Given the description of an element on the screen output the (x, y) to click on. 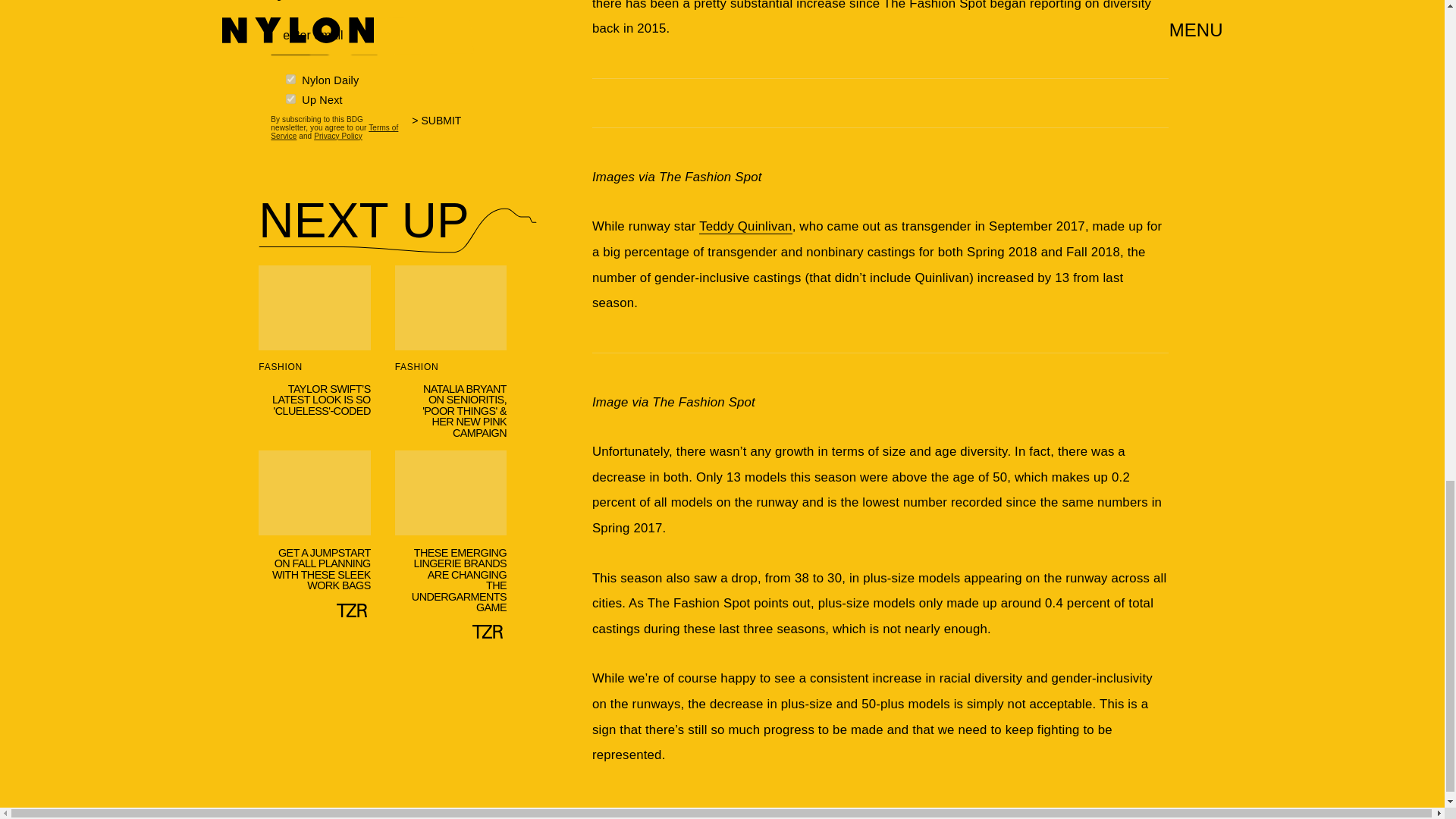
Teddy Quinlivan (745, 226)
Terms of Service (333, 130)
SUBMIT (443, 128)
Privacy Policy (338, 135)
